Given the description of an element on the screen output the (x, y) to click on. 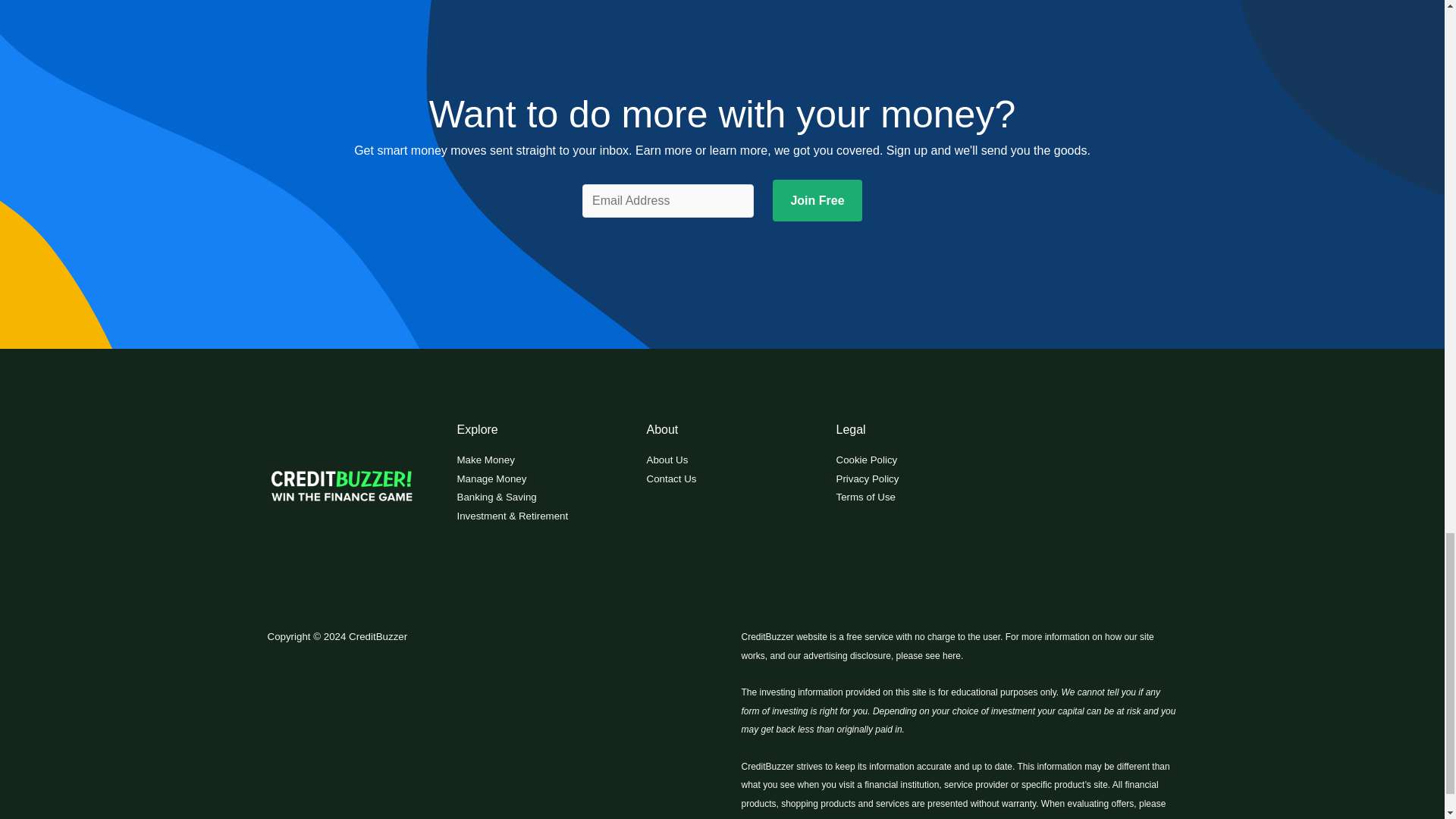
Manage Money (491, 478)
Contact Us (670, 478)
About Us (666, 460)
Privacy Policy (866, 478)
Cookie Policy (865, 460)
Terms of Use (865, 496)
Join Free (817, 200)
Make Money (485, 460)
